Given the description of an element on the screen output the (x, y) to click on. 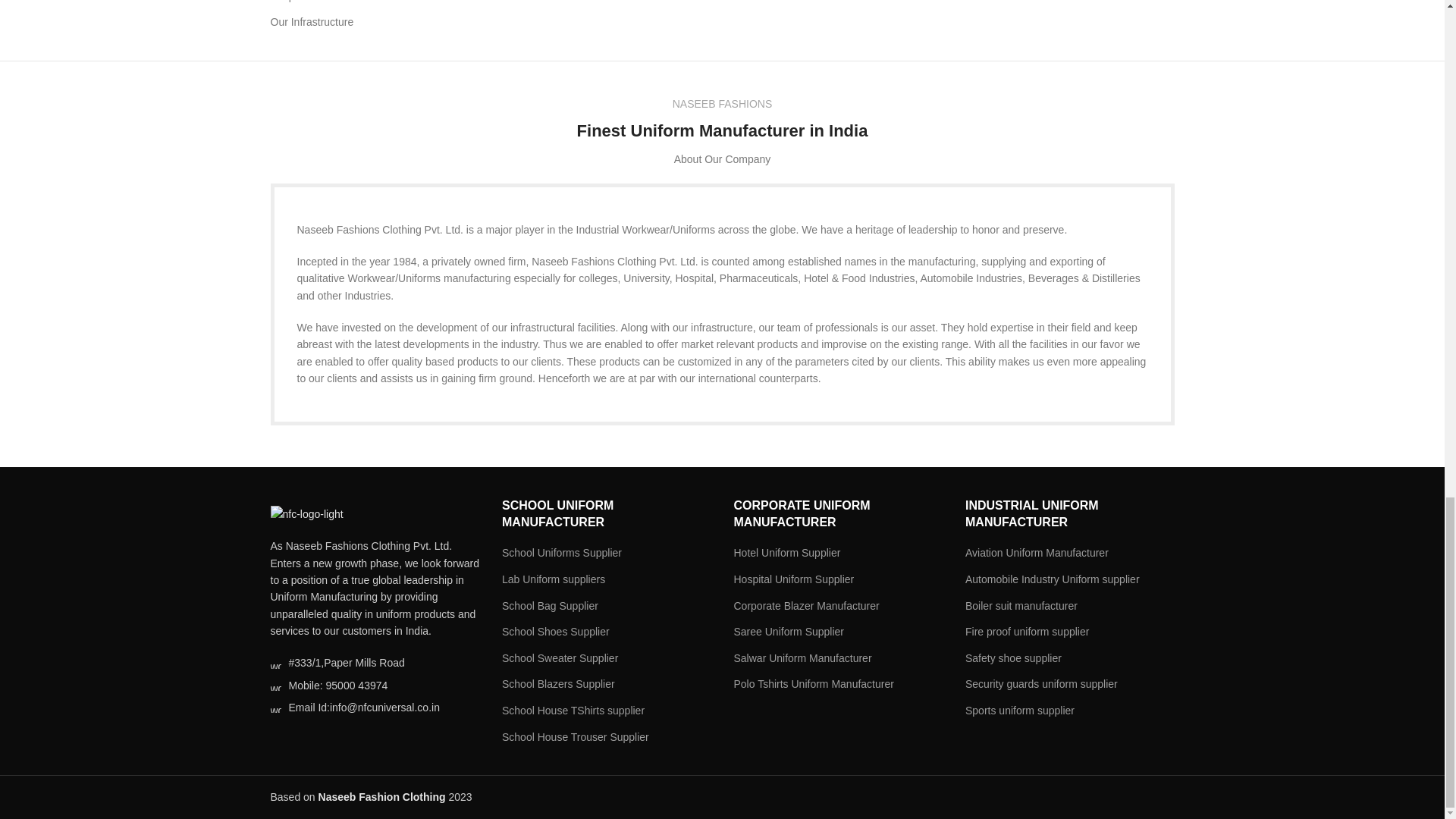
nfc-logo-light (305, 514)
wd-phone-light (275, 685)
wd-cursor-light (275, 663)
